Given the description of an element on the screen output the (x, y) to click on. 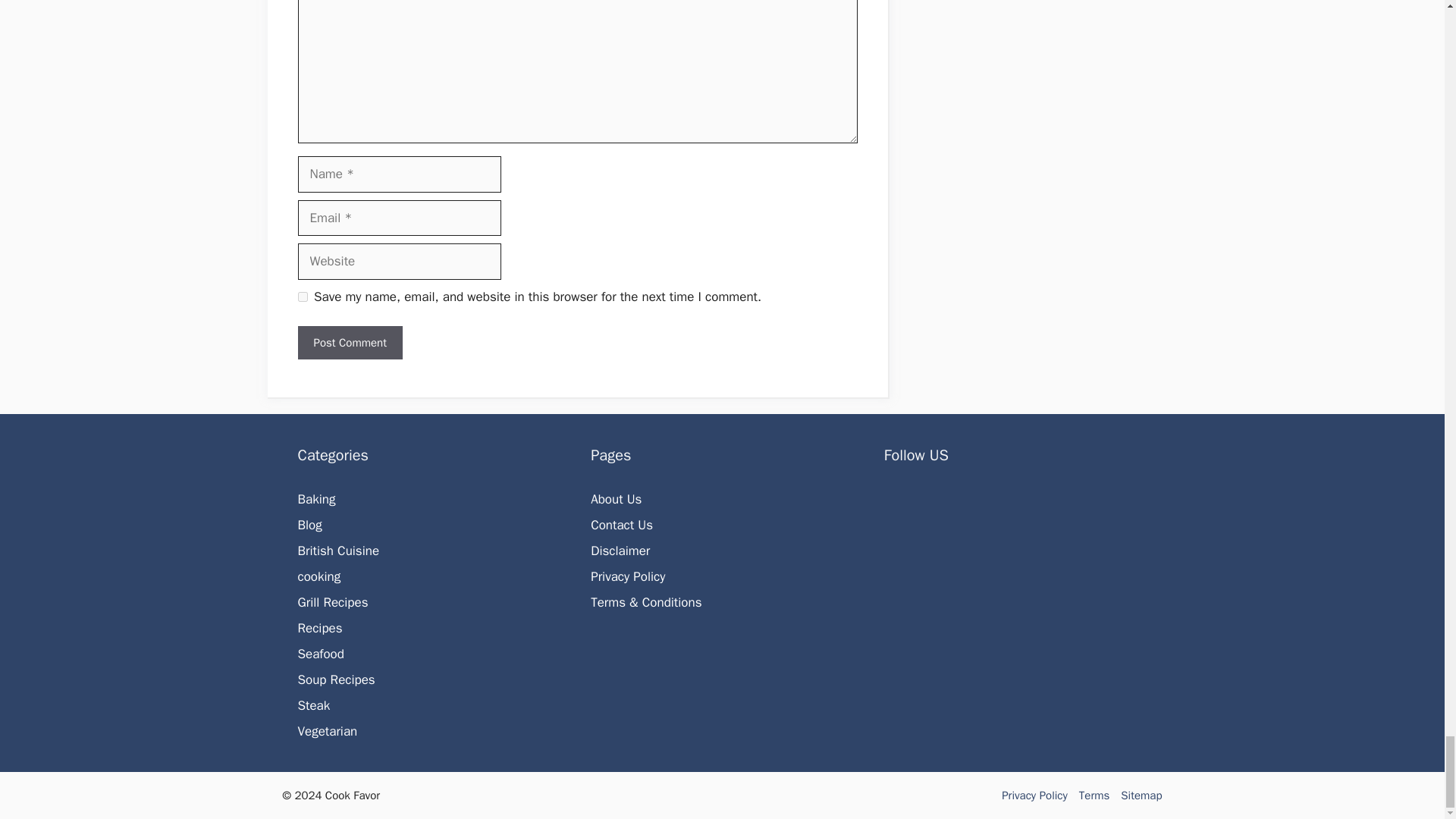
Post Comment (349, 342)
yes (302, 296)
